Given the description of an element on the screen output the (x, y) to click on. 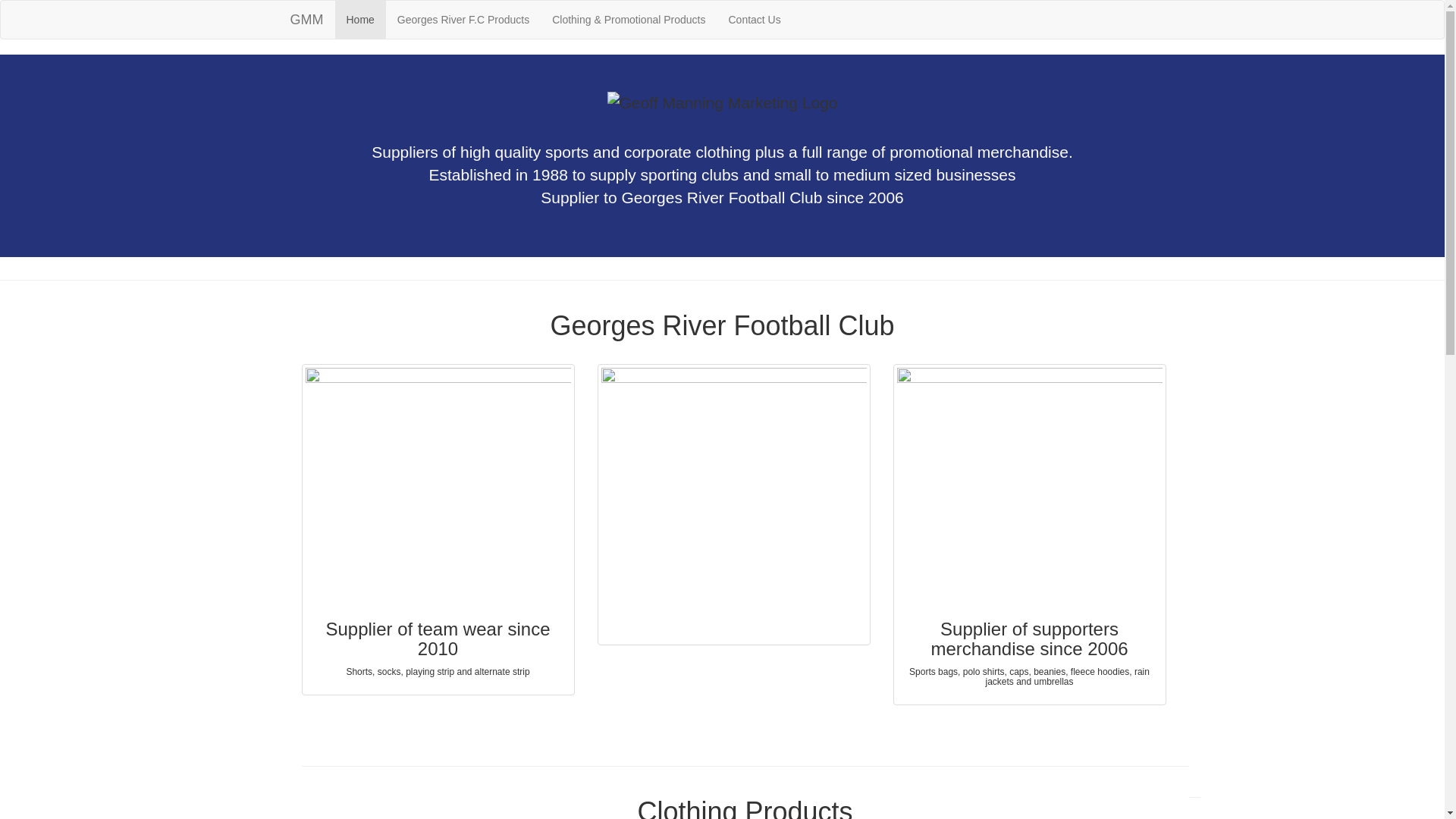
GMM Element type: text (307, 19)
Contact Us Element type: text (753, 19)
Clothing & Promotional Products Element type: text (628, 19)
Home
(current) Element type: text (360, 19)
Georges River F.C Products Element type: text (462, 19)
